Given the description of an element on the screen output the (x, y) to click on. 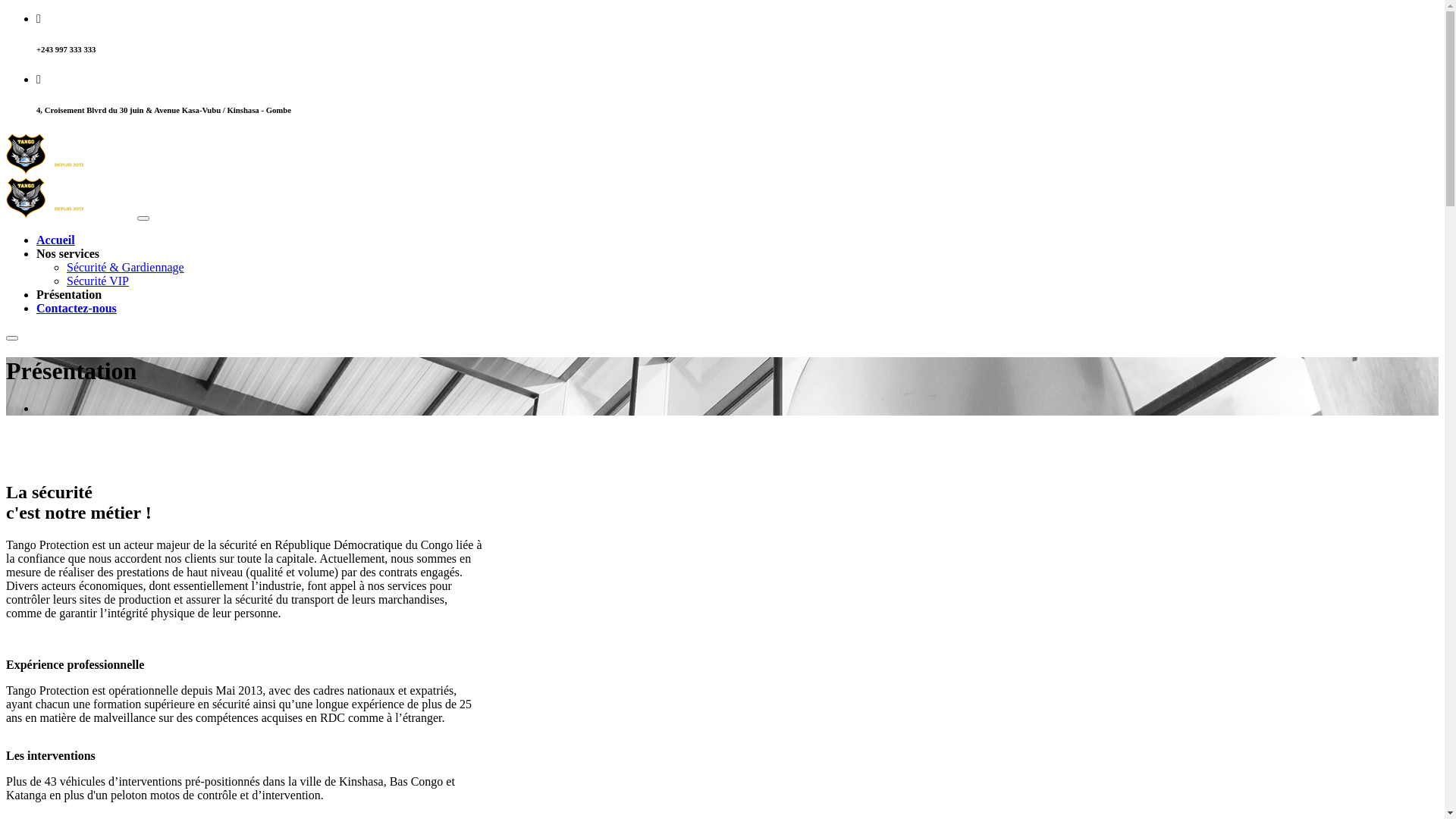
Accueil Element type: text (55, 239)
Contactez-nous Element type: text (76, 307)
Nos services Element type: text (67, 253)
